Given the description of an element on the screen output the (x, y) to click on. 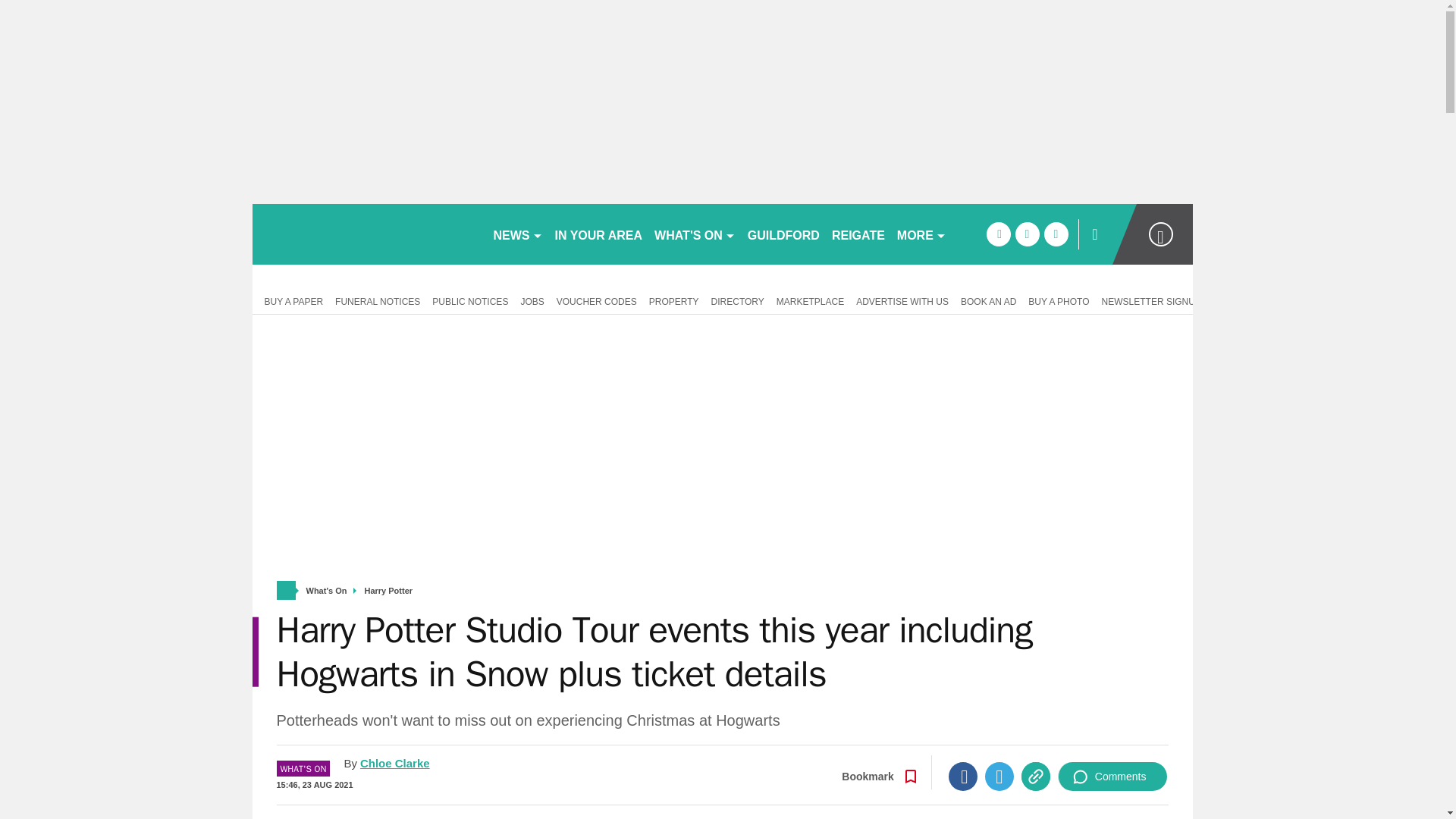
FUNERAL NOTICES (377, 300)
getsurrey (365, 233)
JOBS (531, 300)
twitter (1026, 233)
Facebook (962, 776)
instagram (1055, 233)
facebook (997, 233)
MORE (921, 233)
WHAT'S ON (694, 233)
Comments (1112, 776)
REIGATE (858, 233)
PROPERTY (673, 300)
Twitter (999, 776)
VOUCHER CODES (596, 300)
GUILDFORD (783, 233)
